Given the description of an element on the screen output the (x, y) to click on. 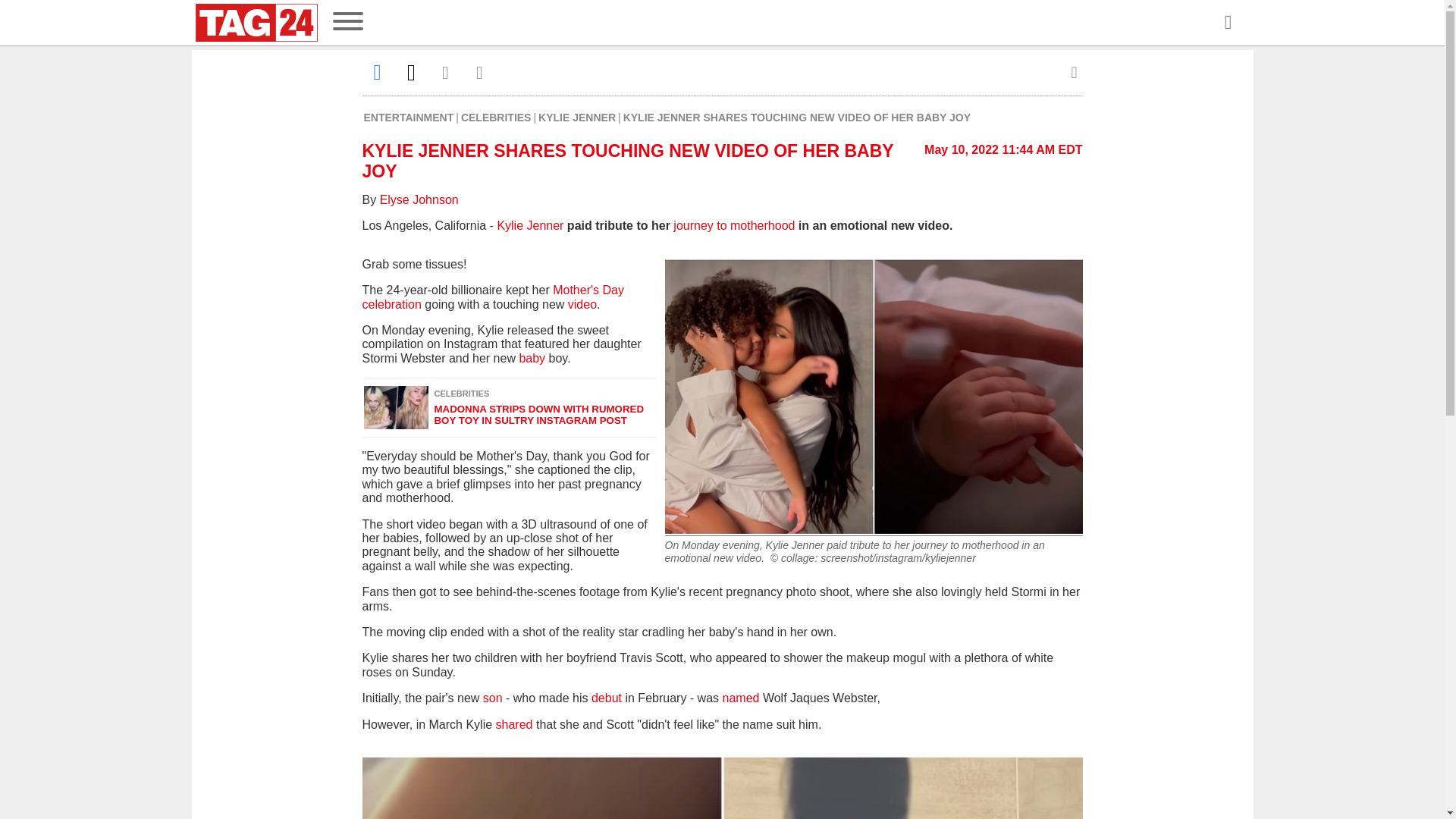
Mother's Day celebration (493, 296)
menu (347, 22)
journey to motherhood (731, 225)
Share on Twitter (411, 72)
Kylie Jenner (529, 225)
named (741, 697)
CELEBRITIES (496, 117)
Elyse Johnson (419, 199)
shared (514, 724)
Share via mail (445, 72)
